Given the description of an element on the screen output the (x, y) to click on. 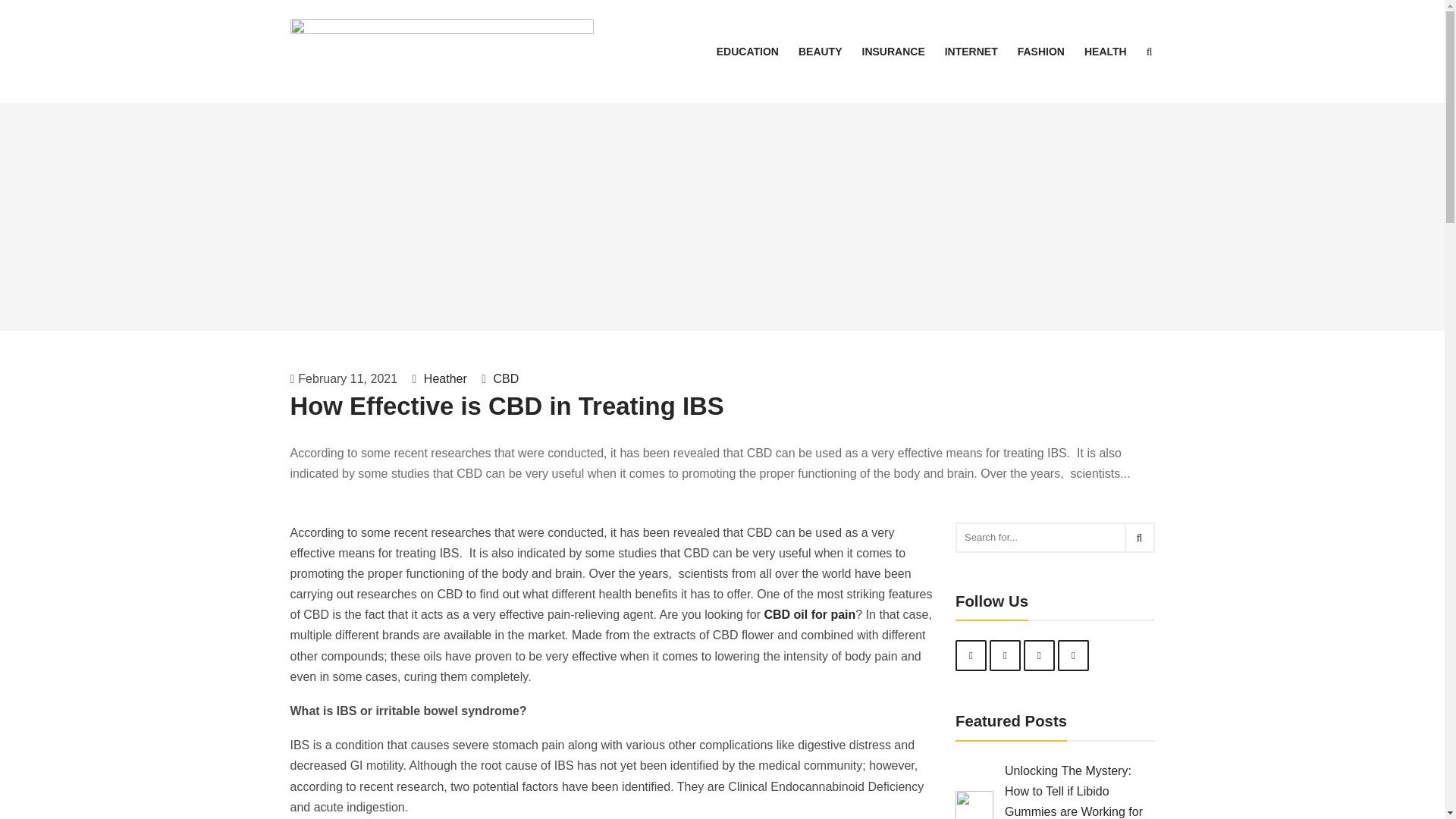
Fashion (1040, 51)
CBD (506, 378)
HEALTH (1105, 51)
Author (439, 378)
INTERNET (971, 51)
INSURANCE (892, 51)
Creation time (343, 378)
Beauty (820, 51)
EDUCATION (747, 51)
Heather (442, 378)
BEAUTY (820, 51)
CBD oil for pain (809, 614)
Post categories (499, 378)
Health (1105, 51)
